Given the description of an element on the screen output the (x, y) to click on. 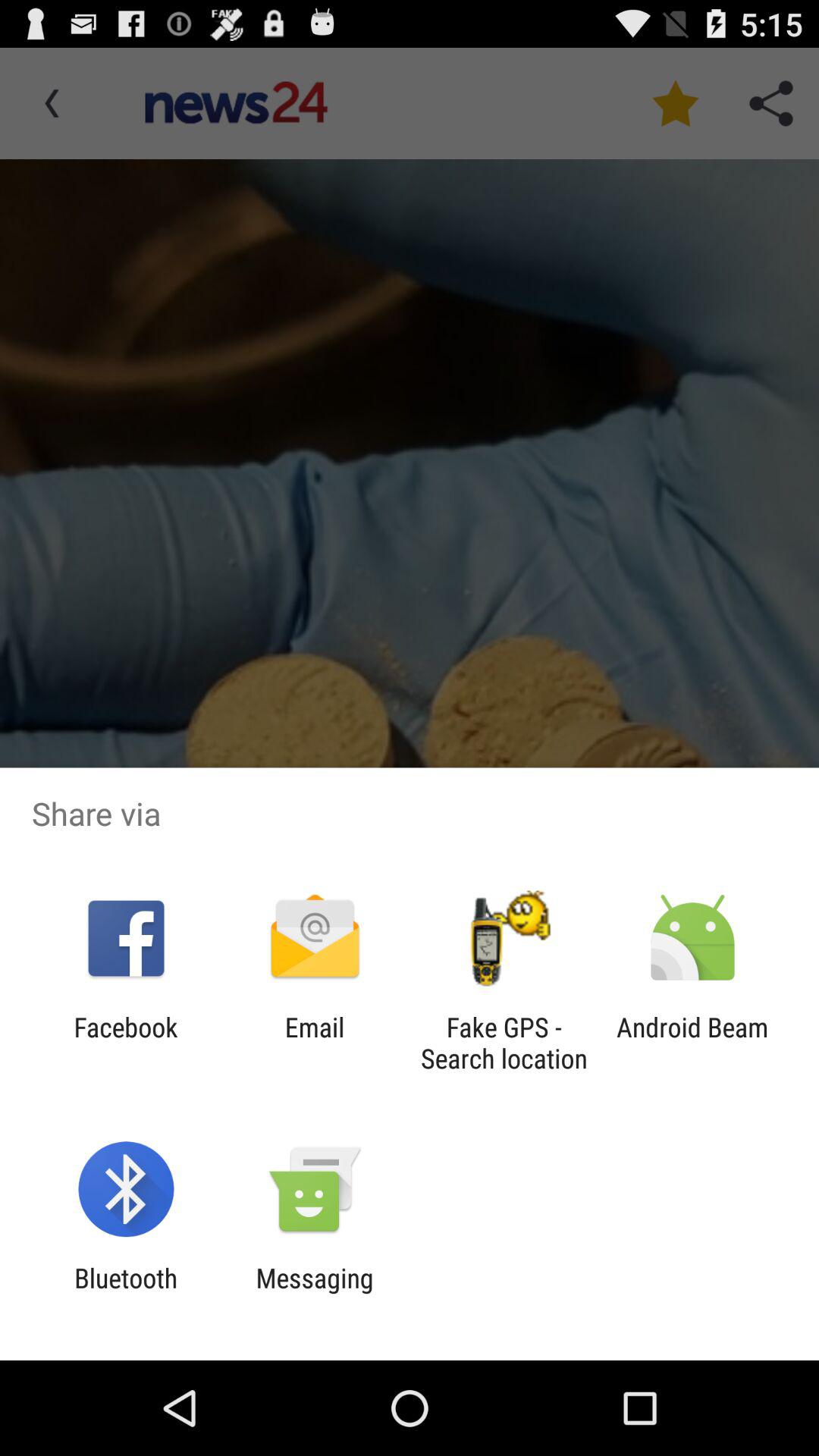
click item next to bluetooth (314, 1293)
